Given the description of an element on the screen output the (x, y) to click on. 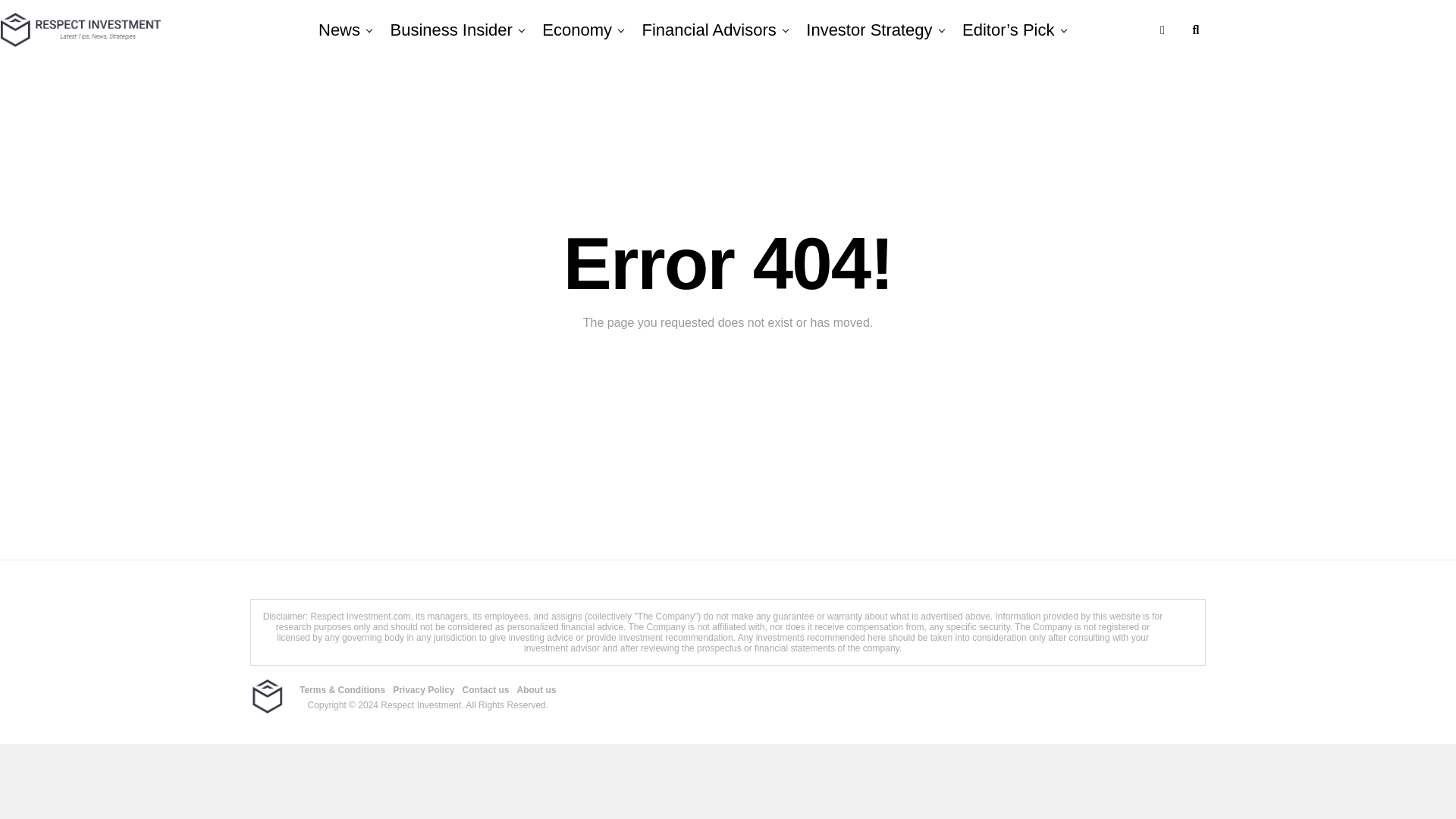
News (343, 30)
Contact us (486, 689)
Privacy Policy (423, 689)
Financial Advisors (709, 30)
Business Insider (450, 30)
Investor Strategy (868, 30)
About us (536, 689)
Economy (577, 30)
Respect Investment.com (360, 615)
